Given the description of an element on the screen output the (x, y) to click on. 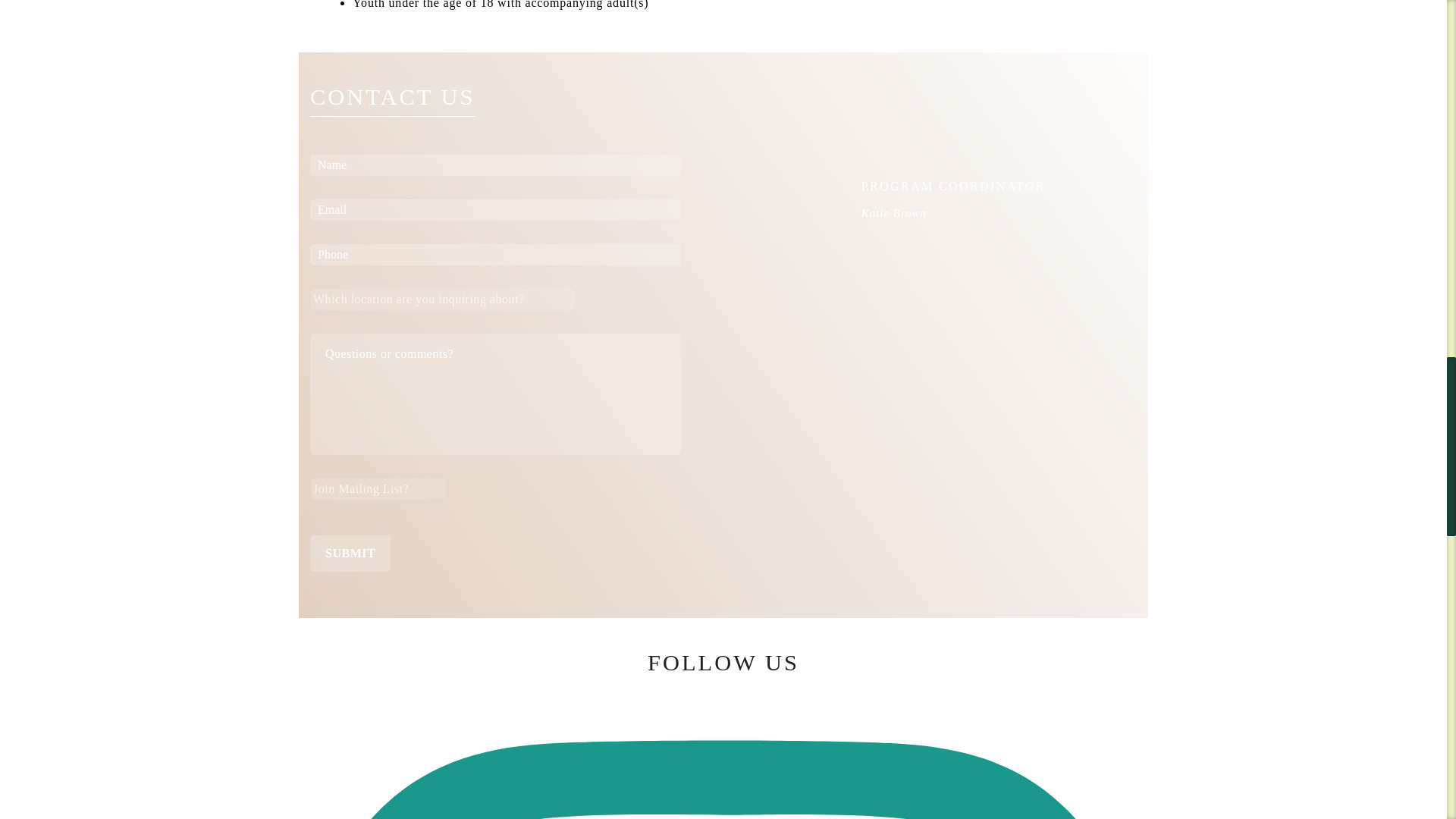
Submit (350, 553)
